Given the description of an element on the screen output the (x, y) to click on. 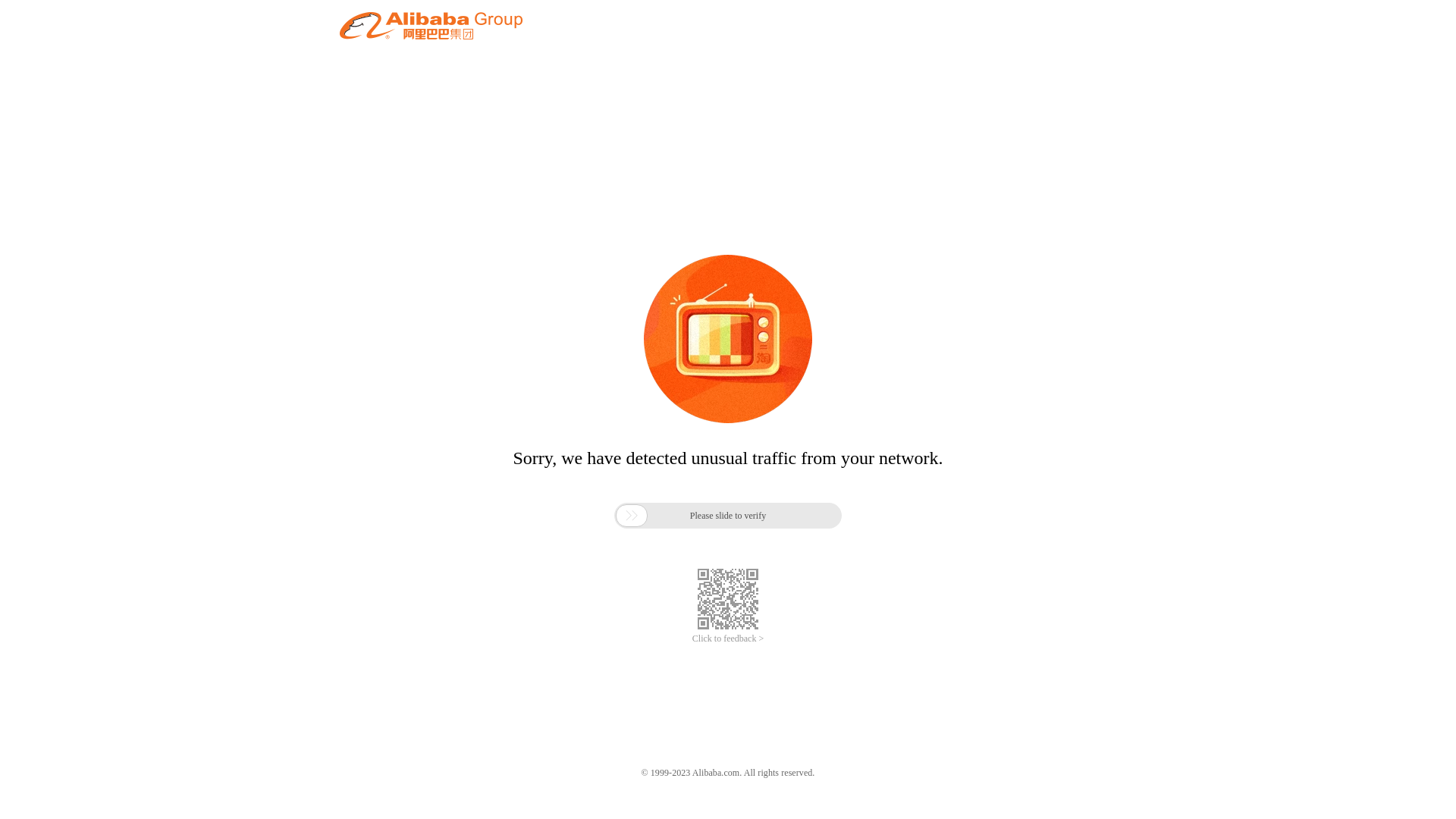
Click to feedback > Element type: text (727, 638)
